Given the description of an element on the screen output the (x, y) to click on. 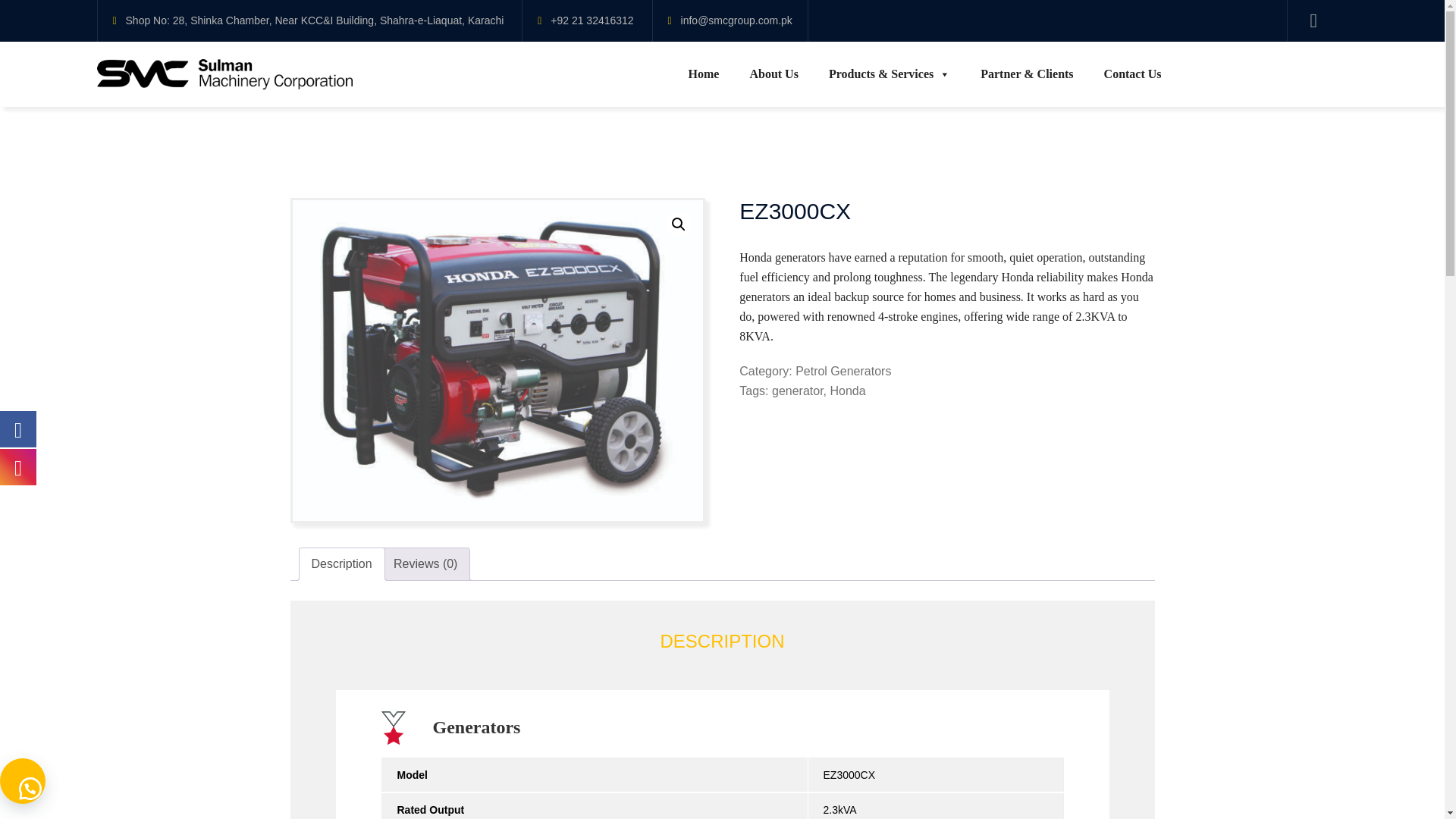
Home (703, 73)
EZ3000.jpg (497, 359)
Description (341, 563)
Petrol Generators (842, 370)
Contact Us (1132, 73)
generator (797, 390)
Honda (846, 390)
About Us (772, 73)
